Given the description of an element on the screen output the (x, y) to click on. 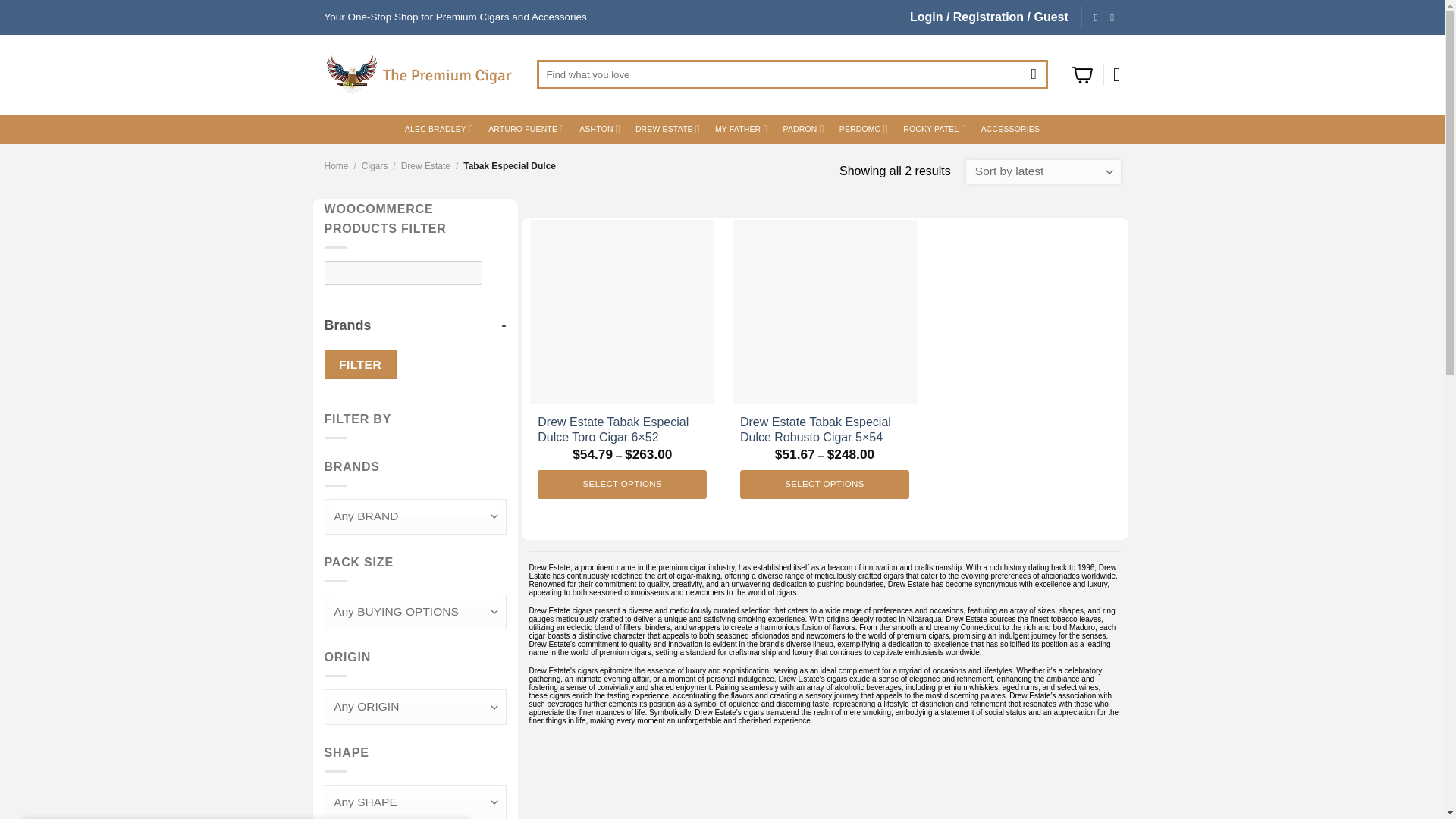
Follow on Instagram (1095, 17)
Search (1034, 74)
ARTURO FUENTE (525, 129)
ASHTON (599, 129)
Follow on YouTube (1112, 17)
ALEC BRADLEY (438, 129)
DREW ESTATE (667, 129)
